Given the description of an element on the screen output the (x, y) to click on. 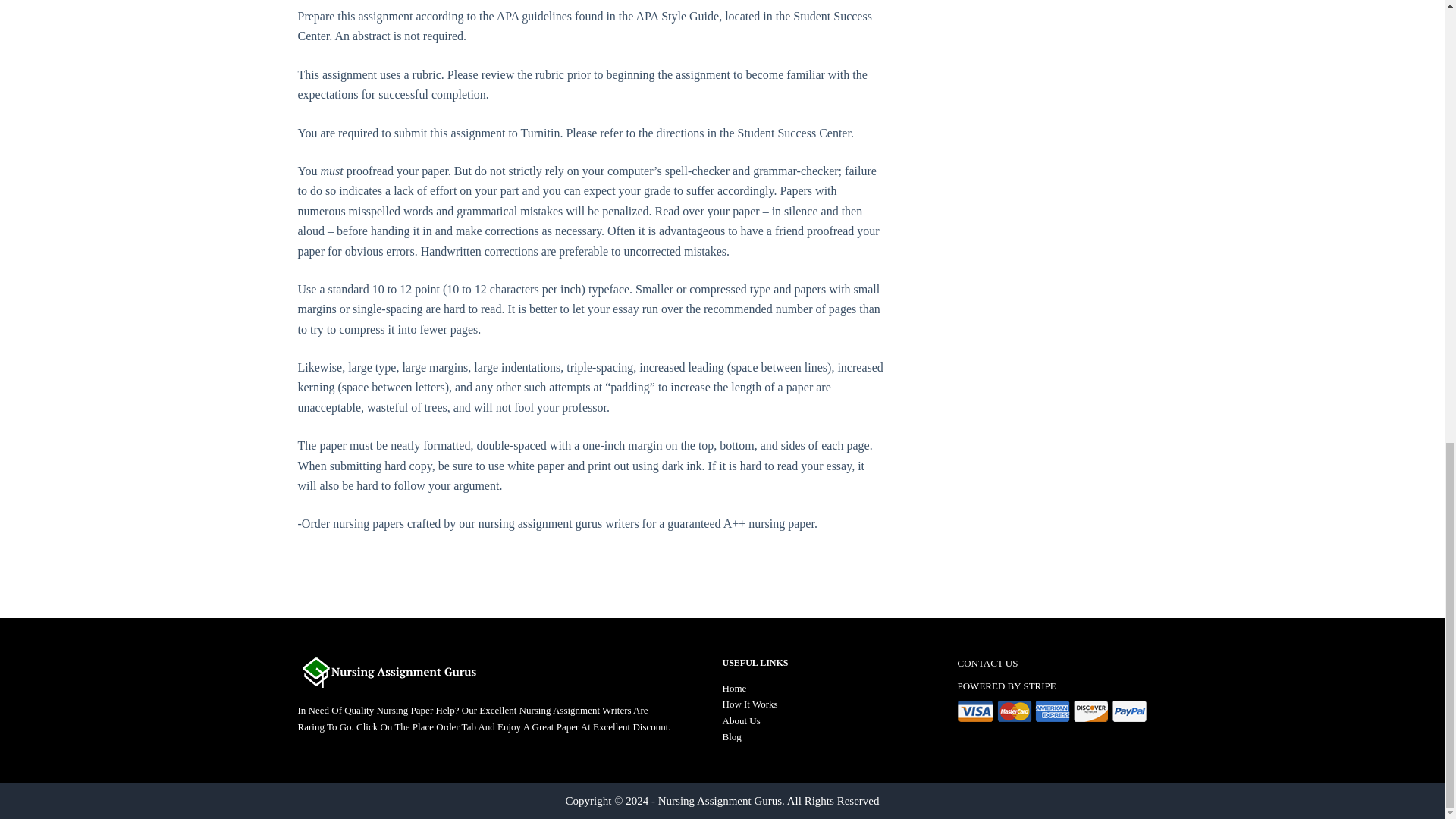
Home (733, 687)
Place Order (436, 726)
Blog (731, 736)
About Us (741, 720)
How It Works (749, 704)
